Given the description of an element on the screen output the (x, y) to click on. 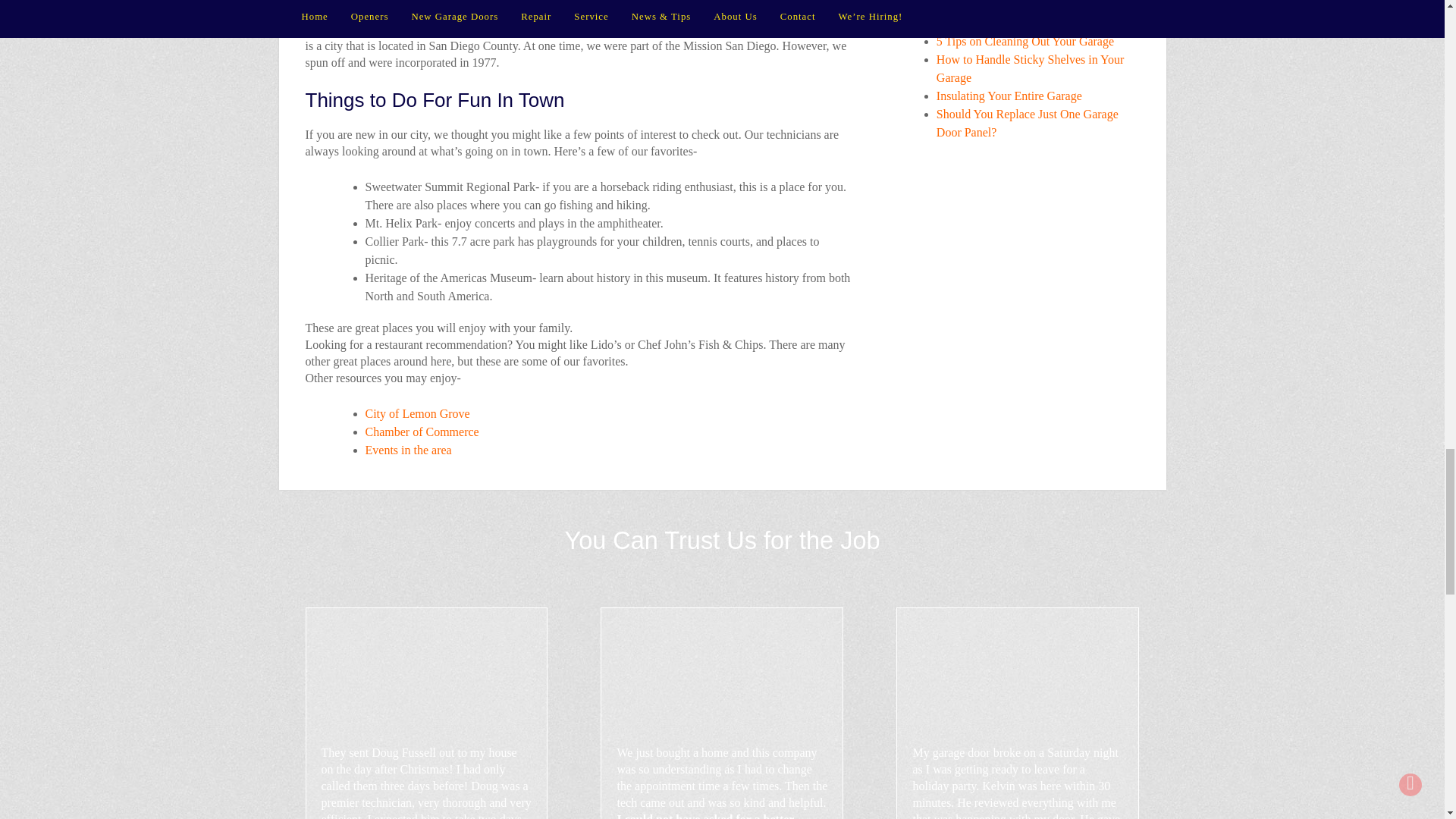
Should You Replace Just One Garage Door Panel? (1027, 122)
How to Handle Sticky Shelves in Your Garage (1030, 68)
City of Lemon Grove (417, 413)
5 Tips on Cleaning Out Your Garage (1024, 41)
Events in the area (408, 449)
How to Repair Cracks In Your Garage Floor (1029, 14)
Insulating Your Entire Garage (1008, 95)
Chamber of Commerce (422, 431)
